Given the description of an element on the screen output the (x, y) to click on. 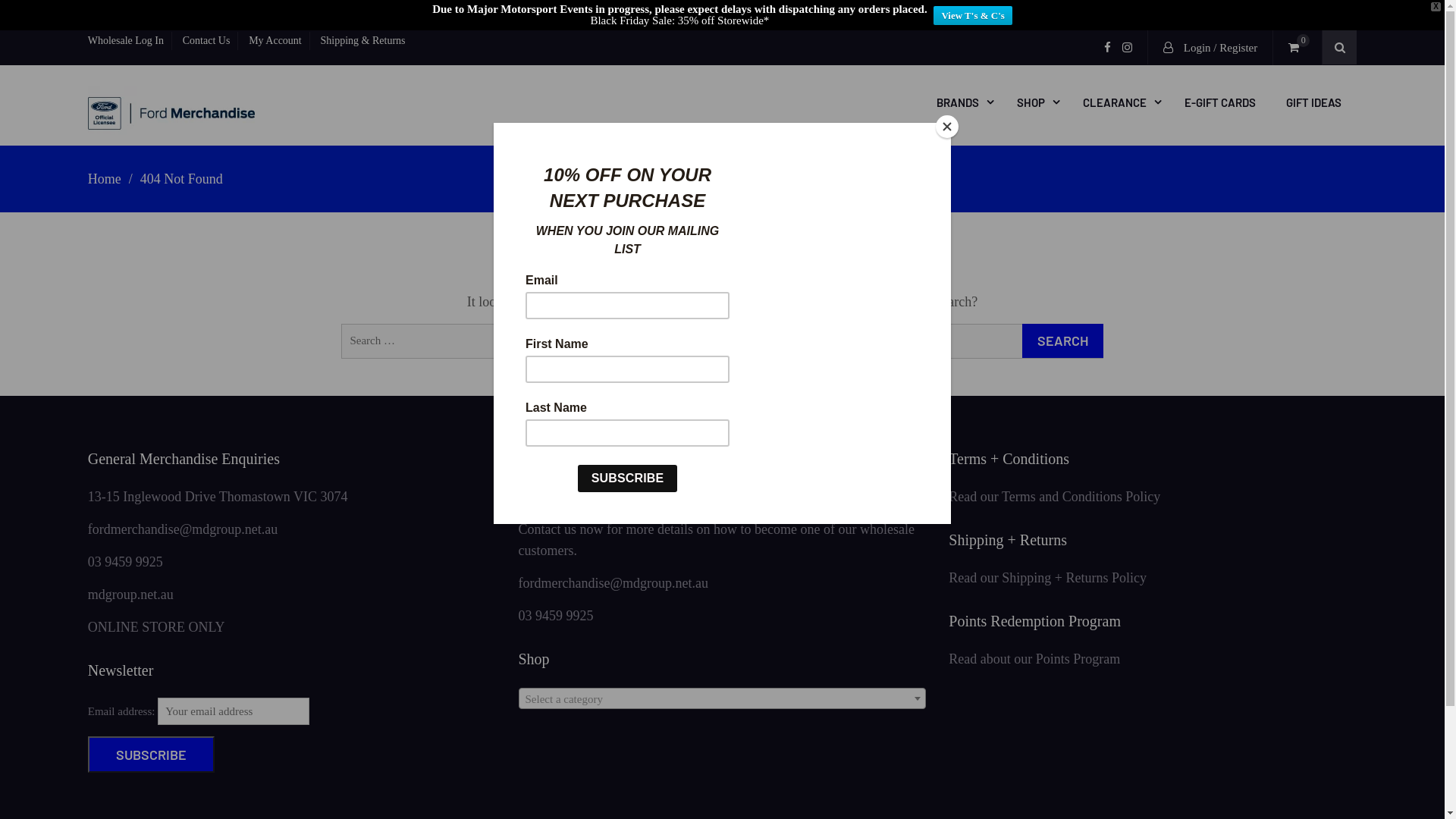
GIFT IDEAS Element type: text (1313, 102)
Login / Register Element type: text (1210, 47)
fordmerchandise@mdgroup.net.au Element type: text (182, 528)
BRANDS Element type: text (961, 102)
Facebook Element type: text (1107, 47)
Wholesale Log In Element type: text (129, 40)
Contact Us Element type: text (206, 40)
CLEARANCE Element type: text (1118, 102)
My Account Element type: text (275, 40)
Instagram Element type: text (1127, 47)
Read about our Points Program Element type: text (1034, 657)
E-GIFT CARDS Element type: text (1219, 102)
View T's & C's Element type: text (972, 15)
Home Element type: text (104, 178)
Shipping & Returns Element type: text (362, 40)
Read our Terms and Conditions Policy Element type: text (1054, 495)
Search Element type: text (1062, 340)
0 Element type: text (1297, 47)
mdgroup.net.au Element type: text (130, 594)
SHOP Element type: text (1034, 102)
fordmerchandise@mdgroup.net.au Element type: text (613, 581)
Read our Shipping + Returns Policy Element type: text (1047, 577)
Subscribe Element type: text (150, 754)
